Given the description of an element on the screen output the (x, y) to click on. 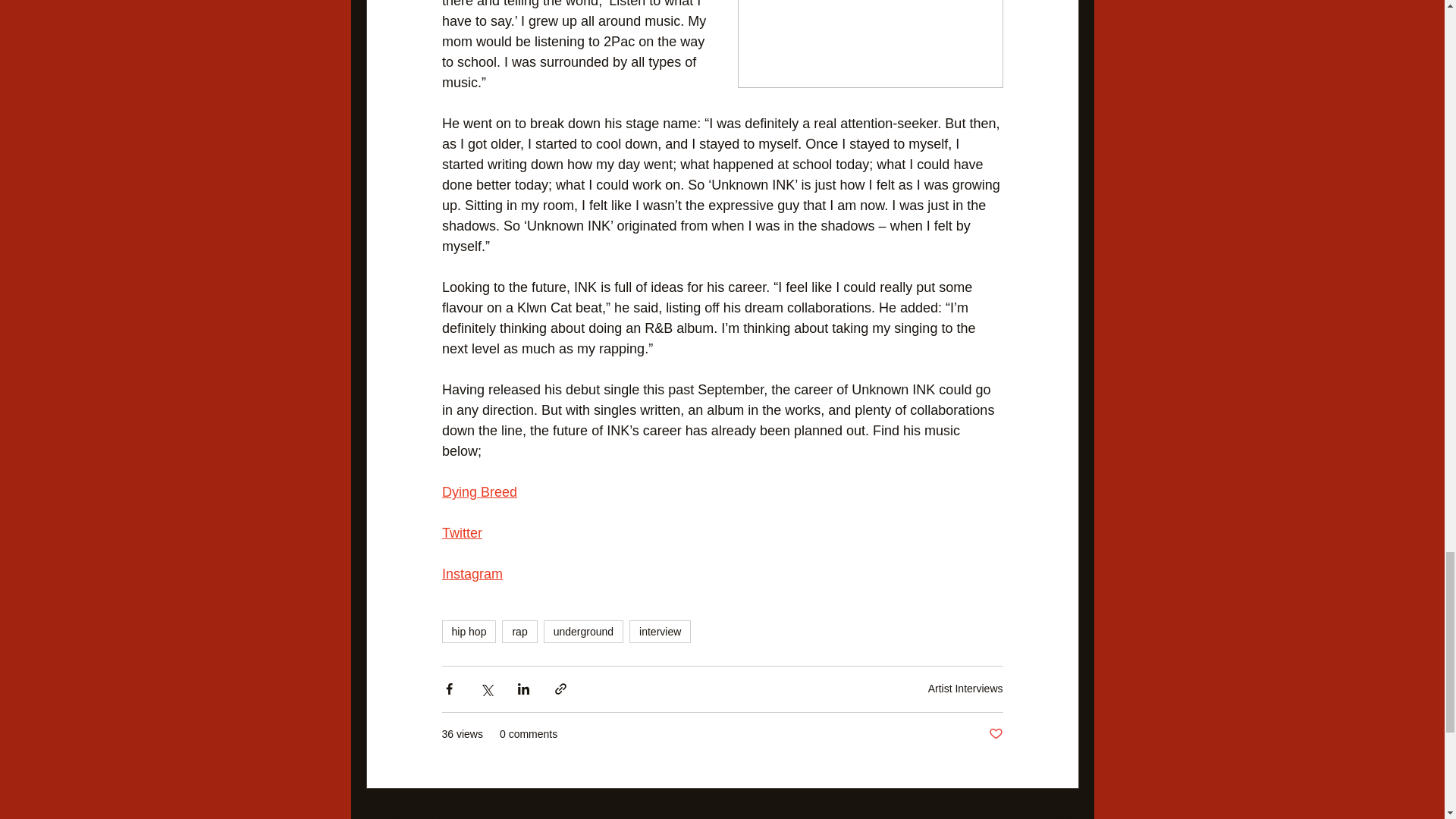
rap (519, 630)
Instagram (471, 574)
hip hop (468, 630)
Twitter (461, 533)
interview (659, 630)
Post not marked as liked (995, 734)
See All (1061, 812)
underground (583, 630)
Artist Interviews (965, 688)
Dying Breed (478, 492)
